Given the description of an element on the screen output the (x, y) to click on. 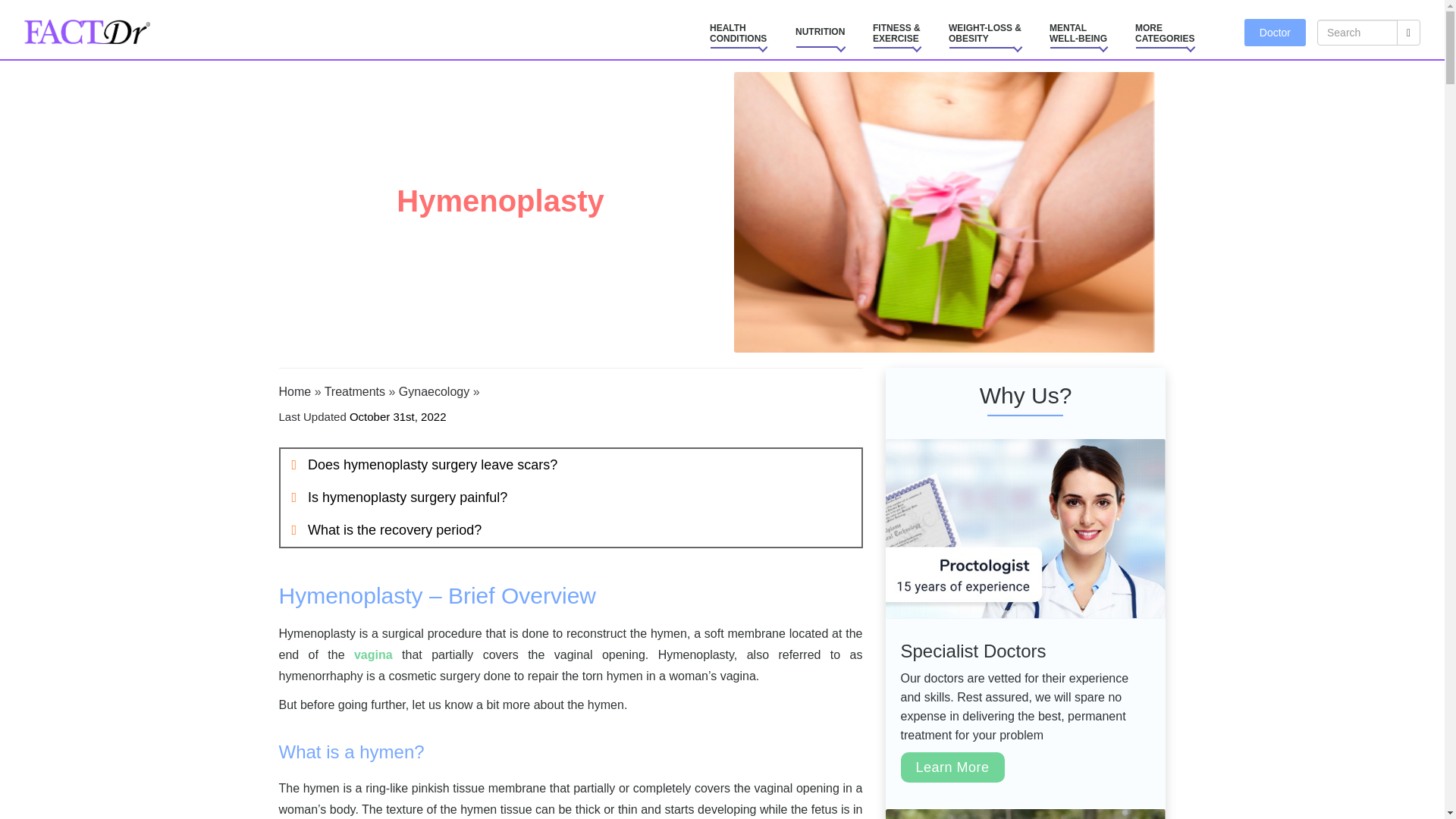
NUTRITION (737, 33)
